Given the description of an element on the screen output the (x, y) to click on. 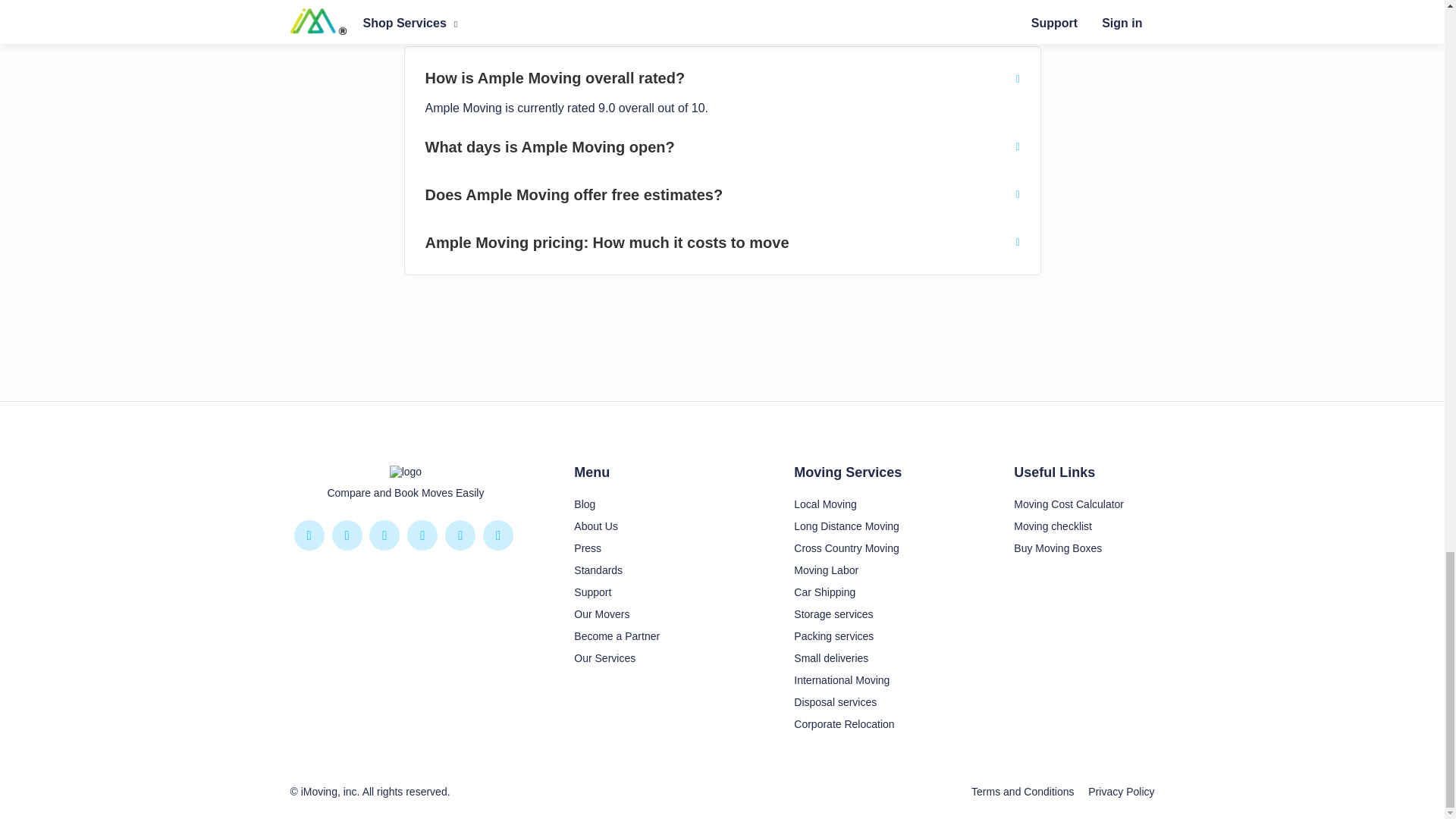
Ample Moving pricing: How much it costs to move (722, 242)
How is Ample Moving overall rated? (722, 77)
Standards (598, 570)
About Us (595, 526)
What days is Ample Moving open? (722, 146)
Support (592, 592)
Become a Partner (616, 635)
Press (587, 548)
Does Ample Moving offer free estimates? (722, 194)
Our Movers (600, 613)
